Given the description of an element on the screen output the (x, y) to click on. 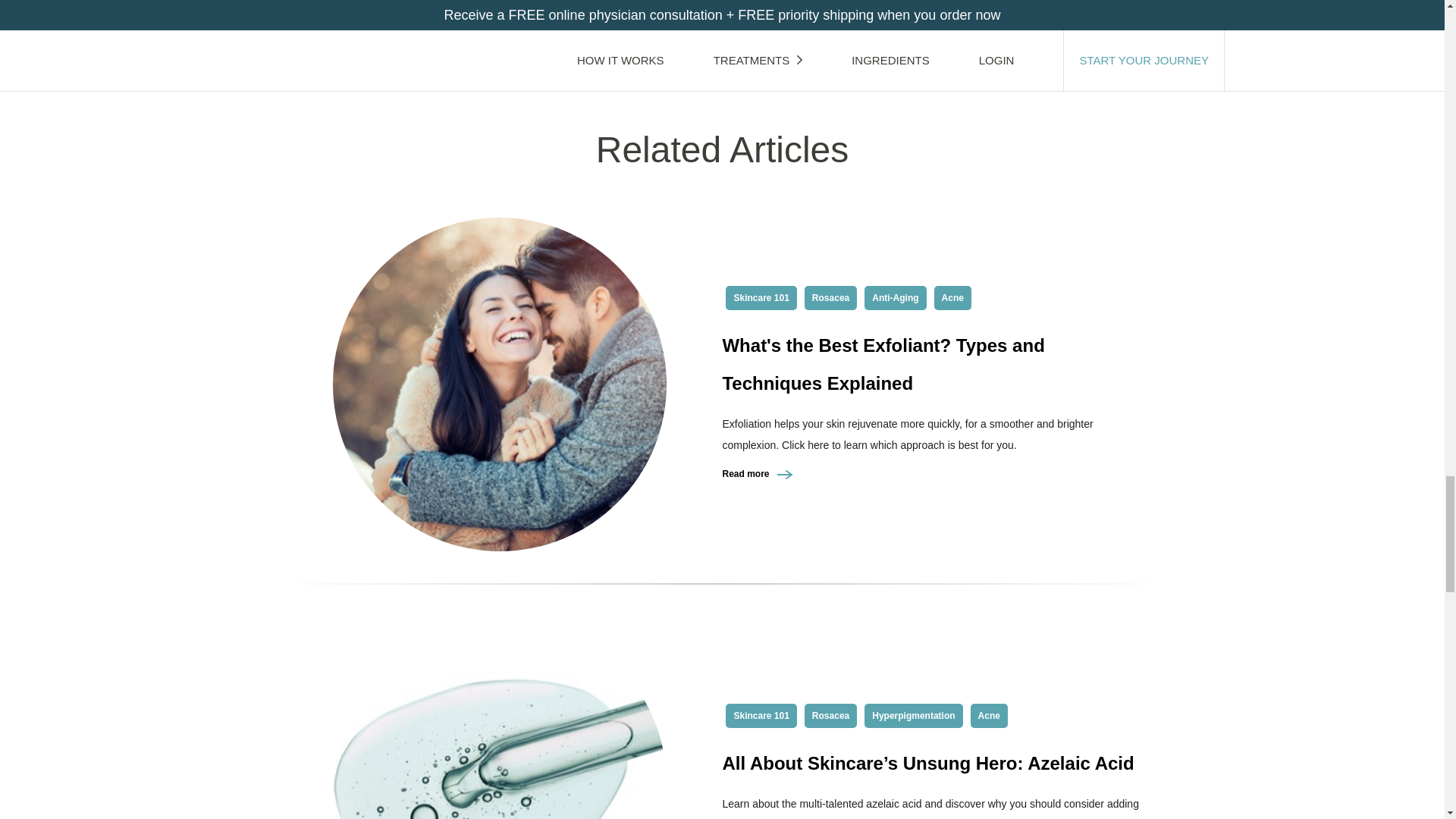
BACK TO HOME (721, 10)
What's the Best Exfoliant? Types and Techniques Explained (882, 363)
Read more   (758, 473)
